Given the description of an element on the screen output the (x, y) to click on. 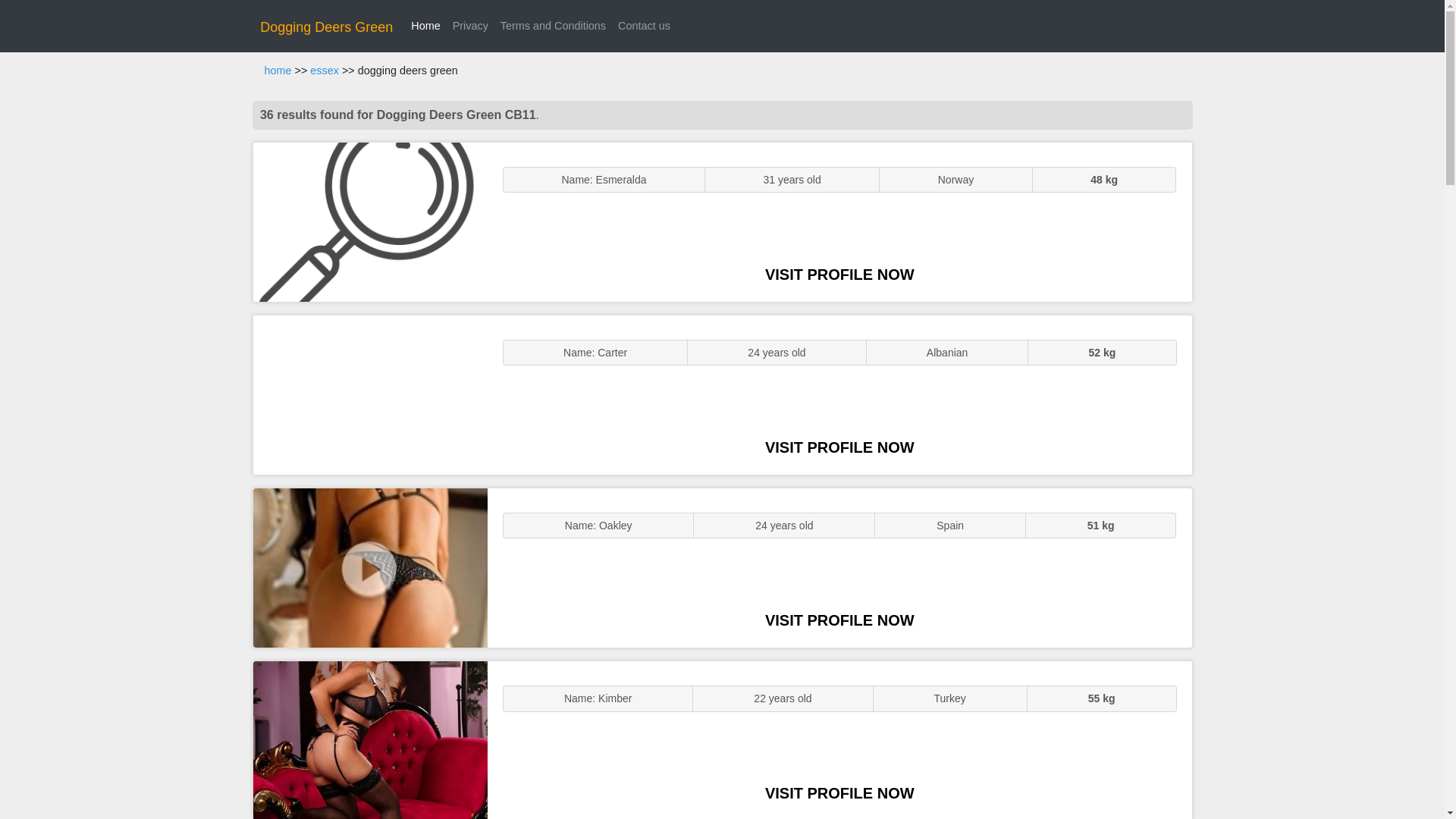
GFE (370, 395)
Dogging Deers Green (326, 27)
VISIT PROFILE NOW (839, 619)
Sluts (370, 739)
VISIT PROFILE NOW (839, 274)
Sexy (370, 567)
VISIT PROFILE NOW (839, 792)
Privacy (470, 25)
home (277, 70)
Terms and Conditions (553, 25)
